Given the description of an element on the screen output the (x, y) to click on. 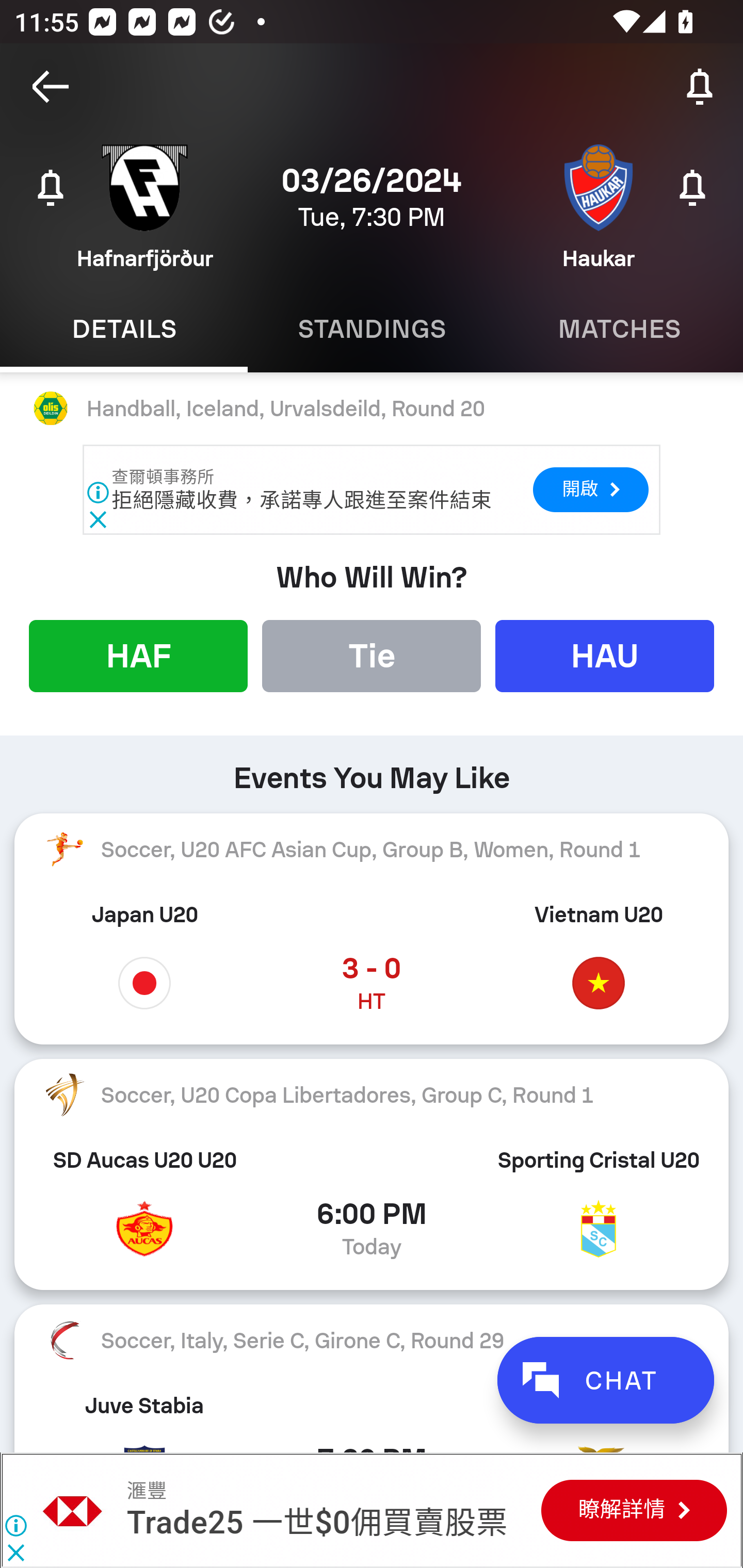
Navigate up (50, 86)
Standings STANDINGS (371, 329)
Matches MATCHES (619, 329)
Handball, Iceland, Urvalsdeild, Round 20 (371, 409)
查爾頓事務所 (163, 476)
開啟 (590, 488)
拒絕隱藏收費，承諾專人跟進至案件結束 (301, 499)
HAF (137, 655)
Tie (371, 655)
HAU (604, 655)
Events You May Like (371, 770)
Soccer, U20 AFC Asian Cup, Group B, Women, Round 1 (371, 849)
Soccer, U20 Copa Libertadores, Group C, Round 1 (371, 1094)
CHAT (605, 1380)
滙豐 (73, 1510)
滙豐 (145, 1491)
瞭解詳情 (634, 1509)
Trade25 一世$0佣買賣股票 (316, 1522)
